Given the description of an element on the screen output the (x, y) to click on. 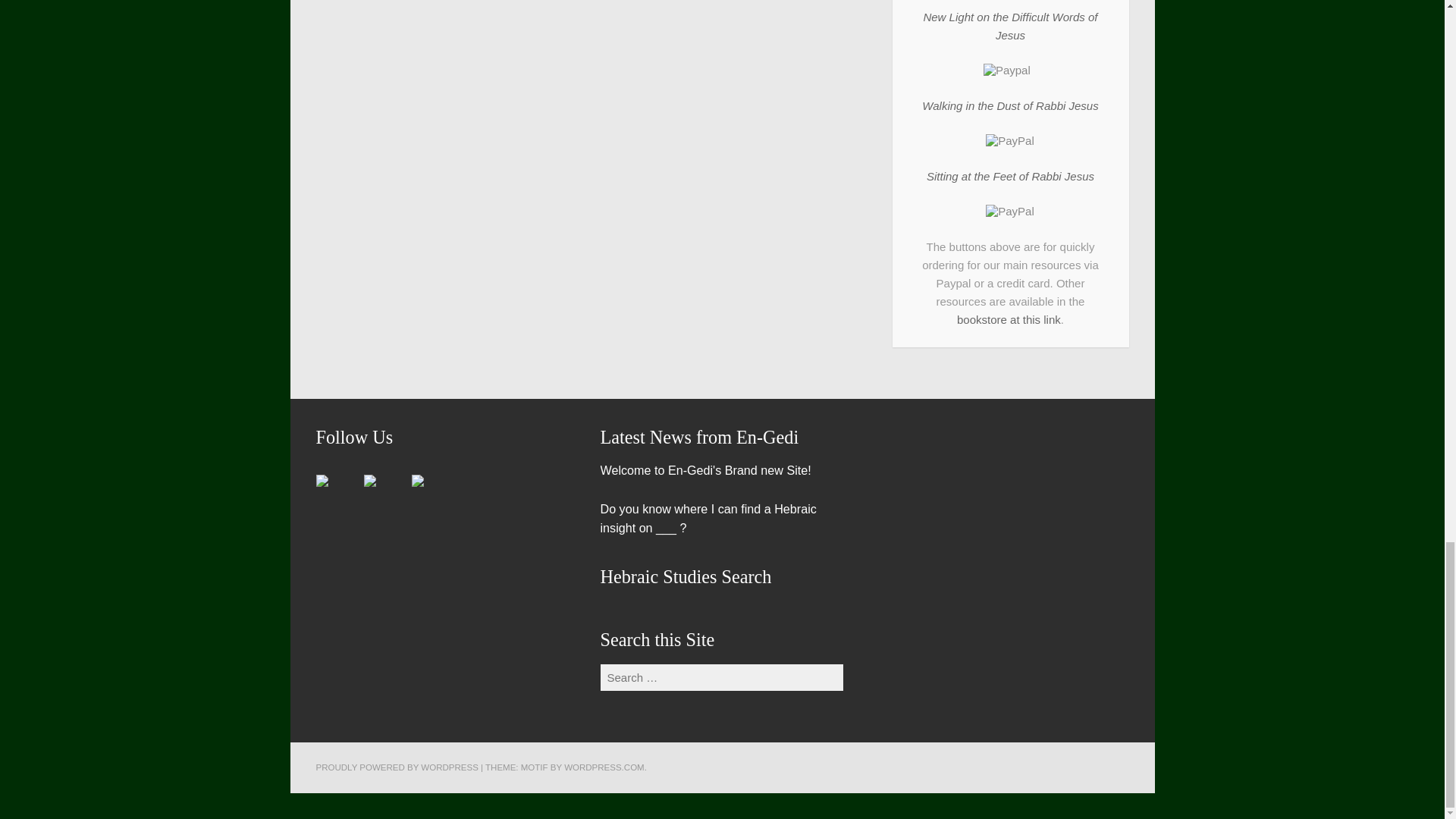
Follow us on Twitter (382, 493)
Find us on YouTube (428, 493)
Follow us on Facebook (321, 480)
Follow us on Twitter (369, 480)
Find us on YouTube (416, 480)
Follow us on Facebook (333, 493)
A Semantic Personal Publishing Platform (396, 767)
